Given the description of an element on the screen output the (x, y) to click on. 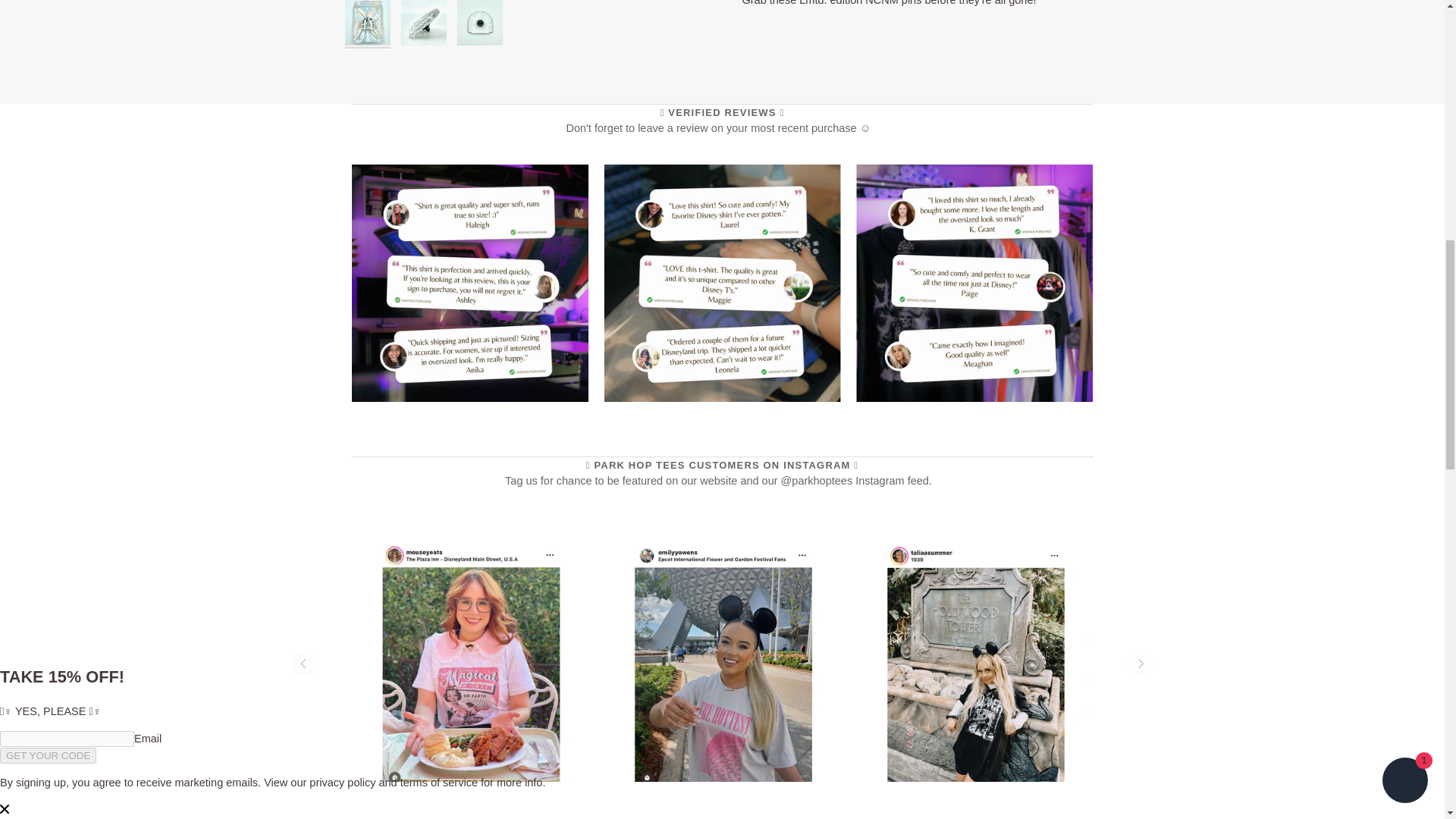
Zoom (470, 283)
Zoom (722, 283)
